Given the description of an element on the screen output the (x, y) to click on. 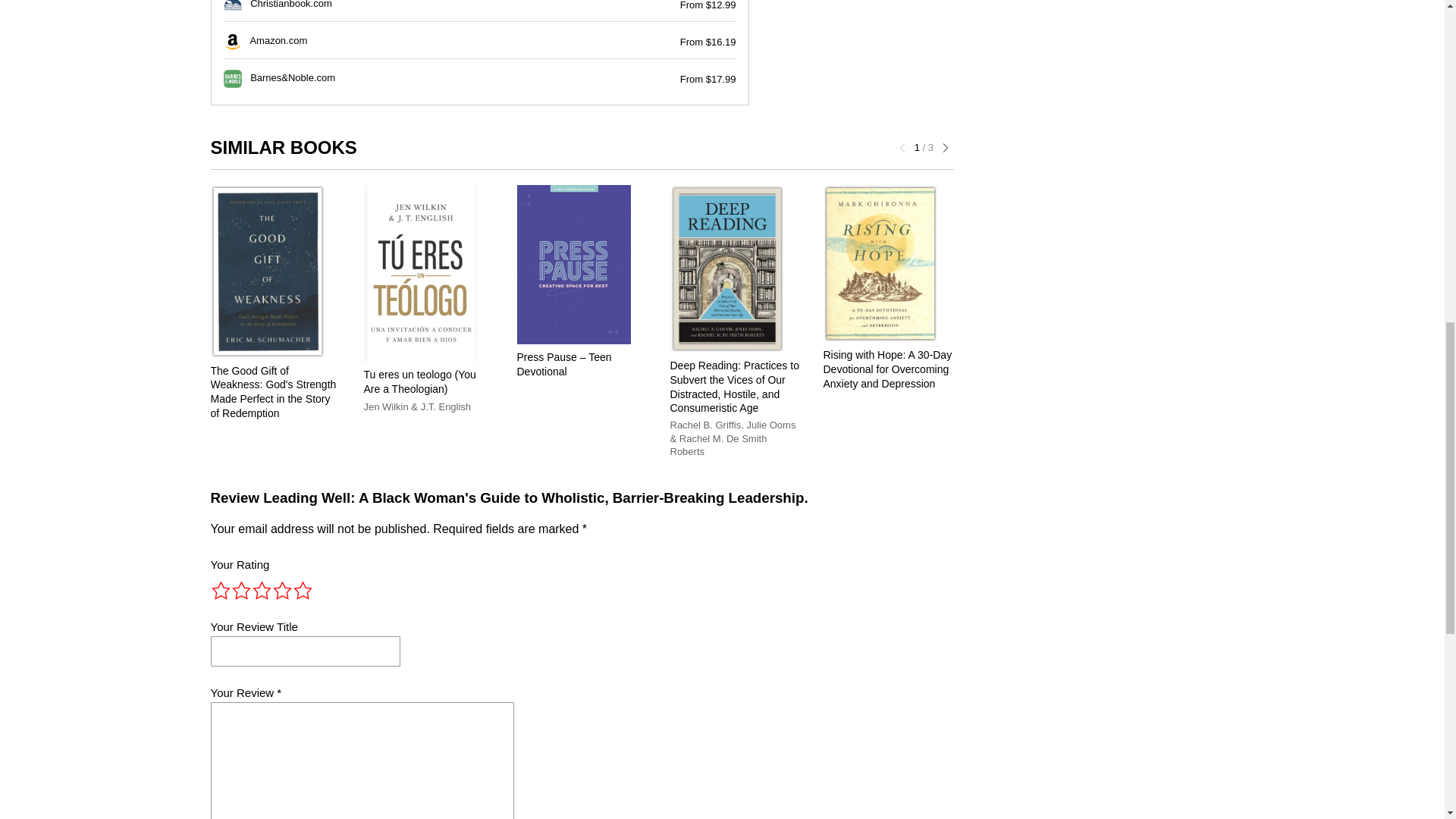
Amazon.com (277, 41)
Christianbook.com (290, 4)
